Given the description of an element on the screen output the (x, y) to click on. 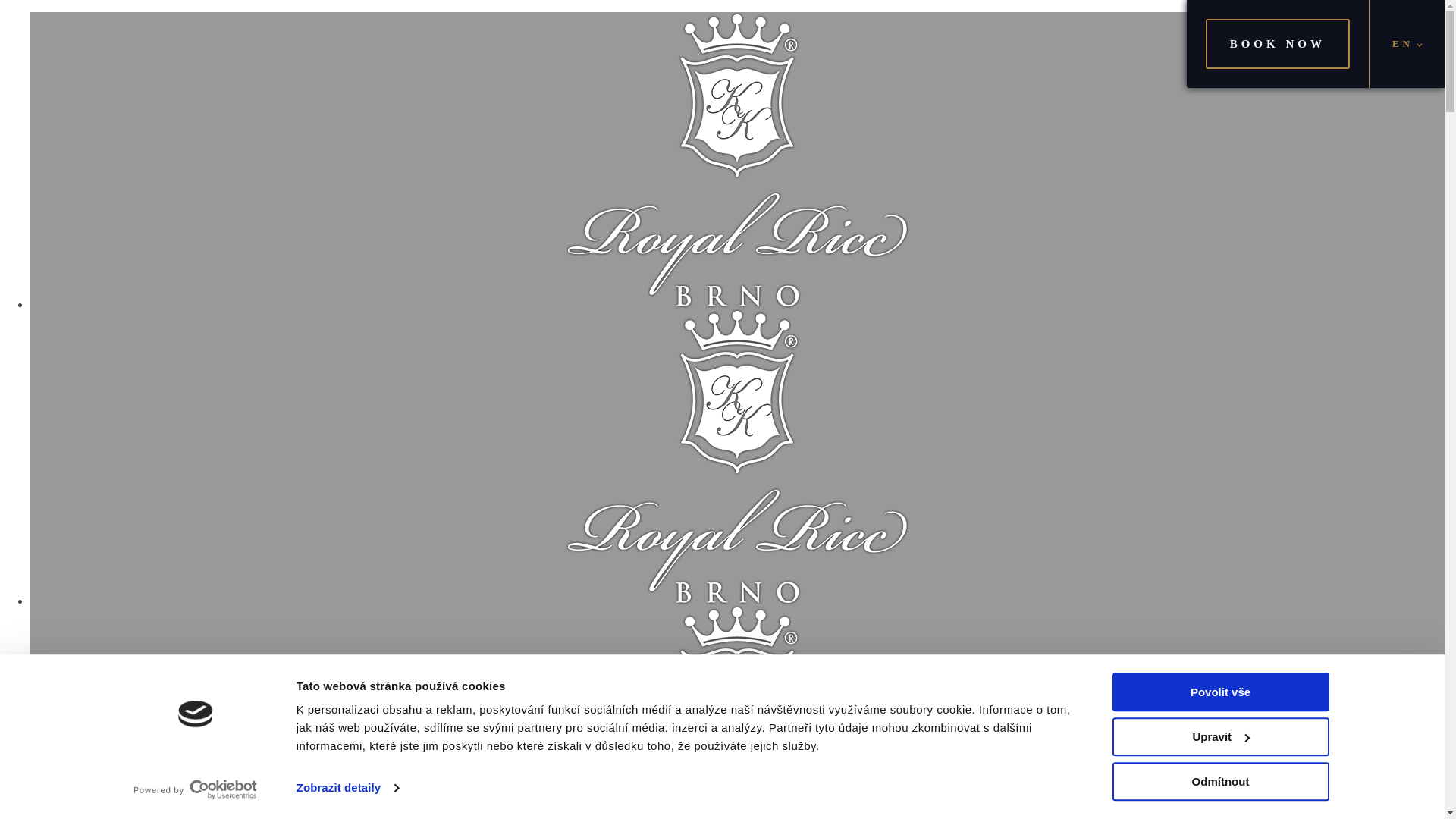
BOOK NOW (1277, 43)
EN (1407, 44)
Zobrazit detaily (347, 787)
Upravit (1219, 736)
